Given the description of an element on the screen output the (x, y) to click on. 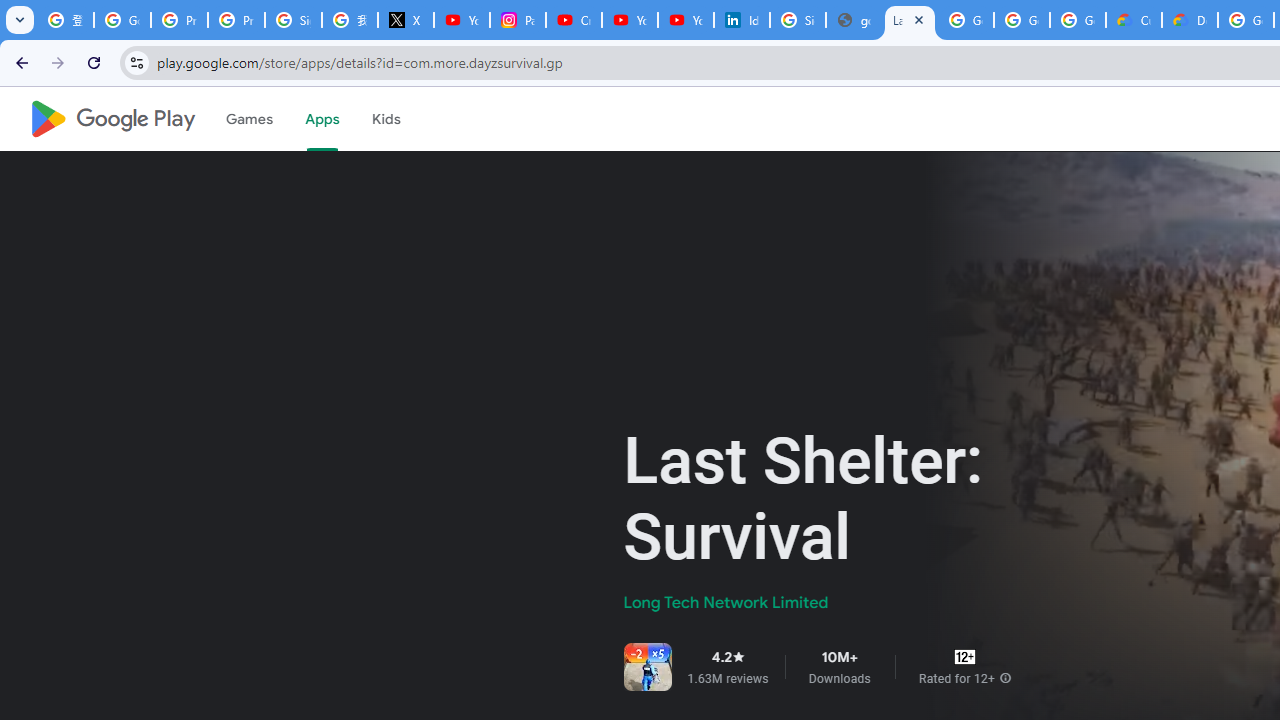
Kids (385, 119)
Privacy Help Center - Policies Help (235, 20)
Sign in - Google Accounts (797, 20)
